Given the description of an element on the screen output the (x, y) to click on. 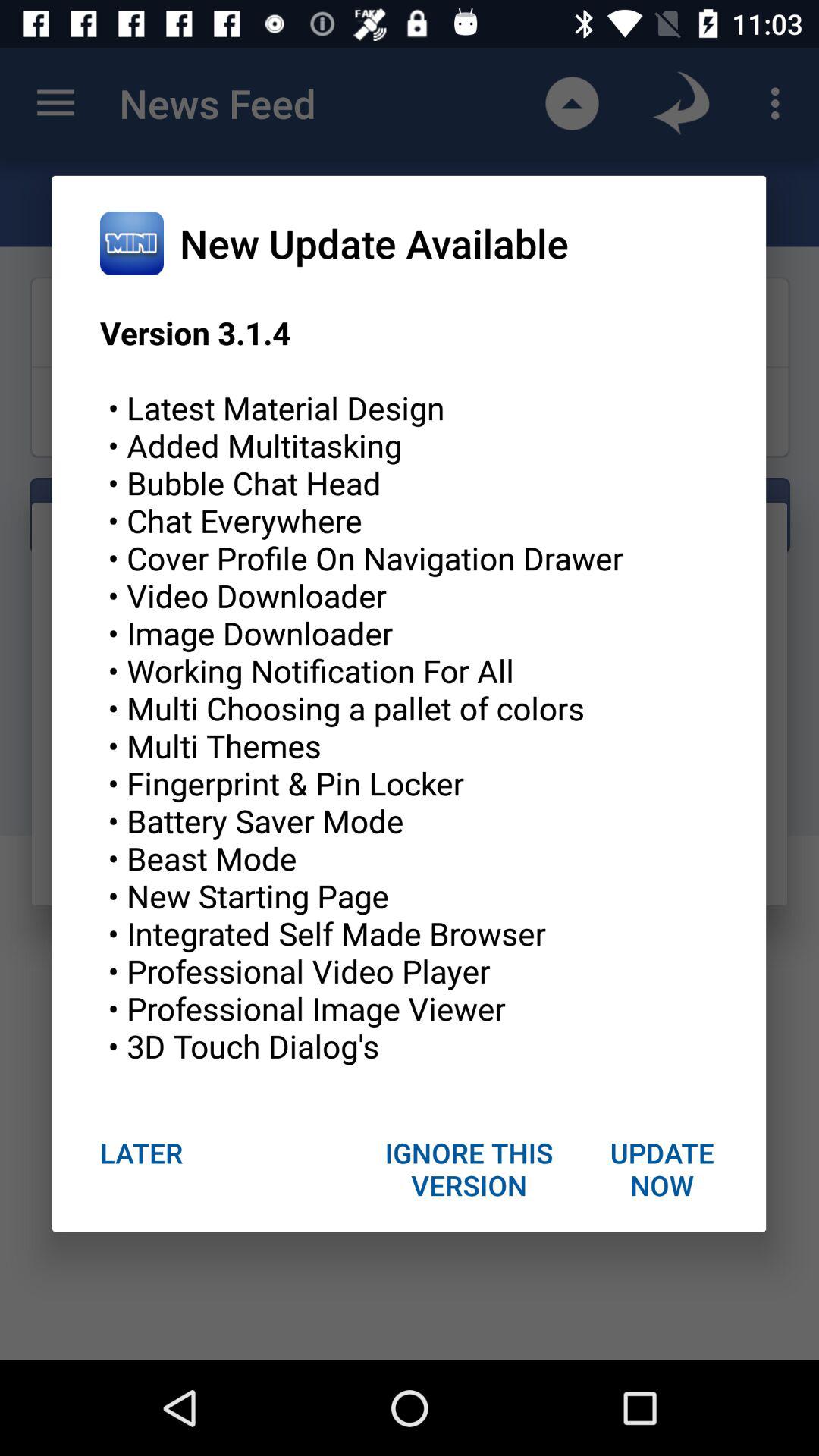
select item to the left of the ignore this
version item (141, 1153)
